Given the description of an element on the screen output the (x, y) to click on. 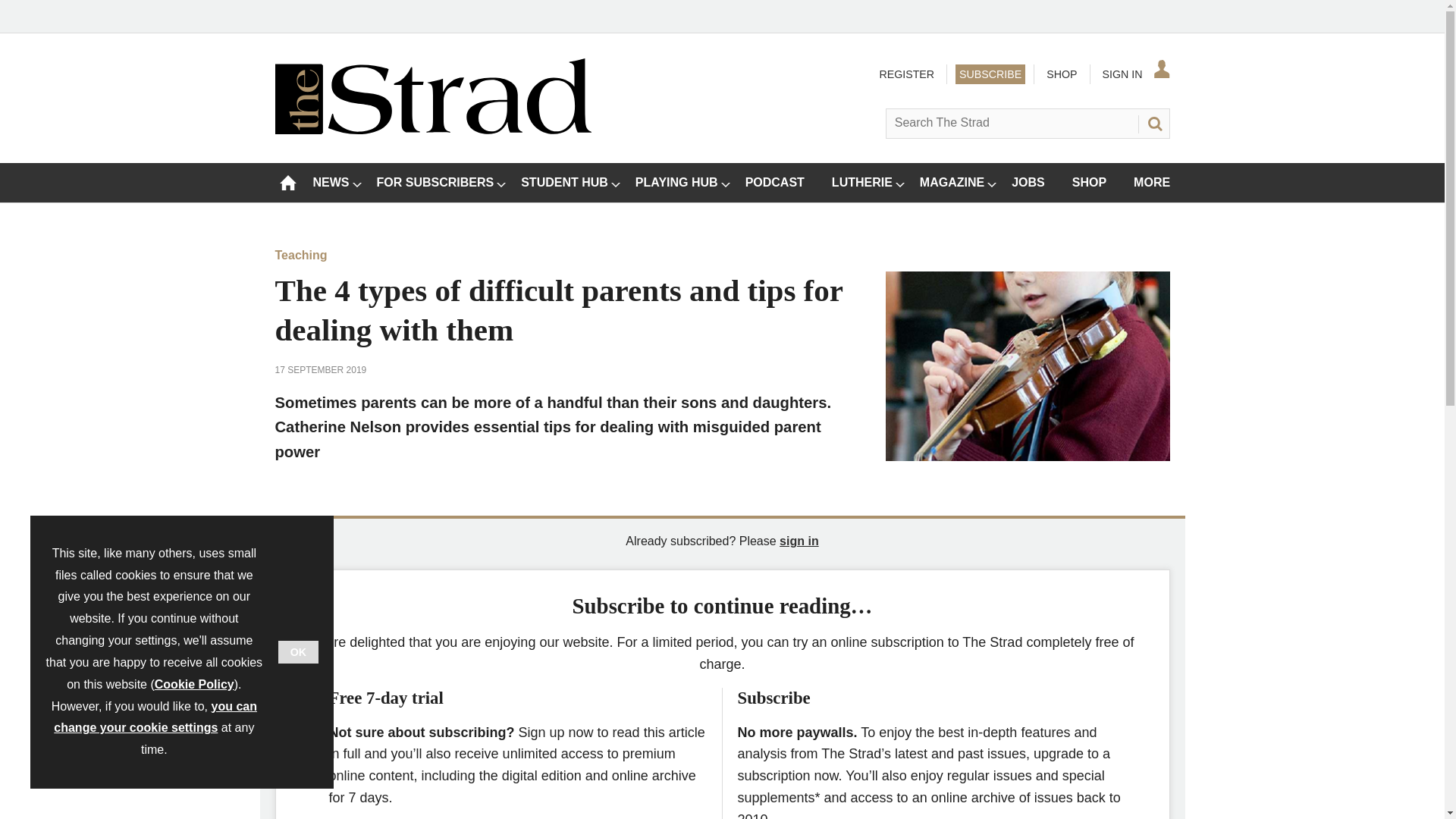
OK (298, 651)
REGISTER (906, 74)
Cookie Policy (194, 684)
SIGN IN (1134, 74)
SUBSCRIBE (990, 74)
SHOP (1061, 74)
SEARCH (1153, 123)
you can change your cookie settings (155, 717)
Insert Logo text (433, 129)
